Given the description of an element on the screen output the (x, y) to click on. 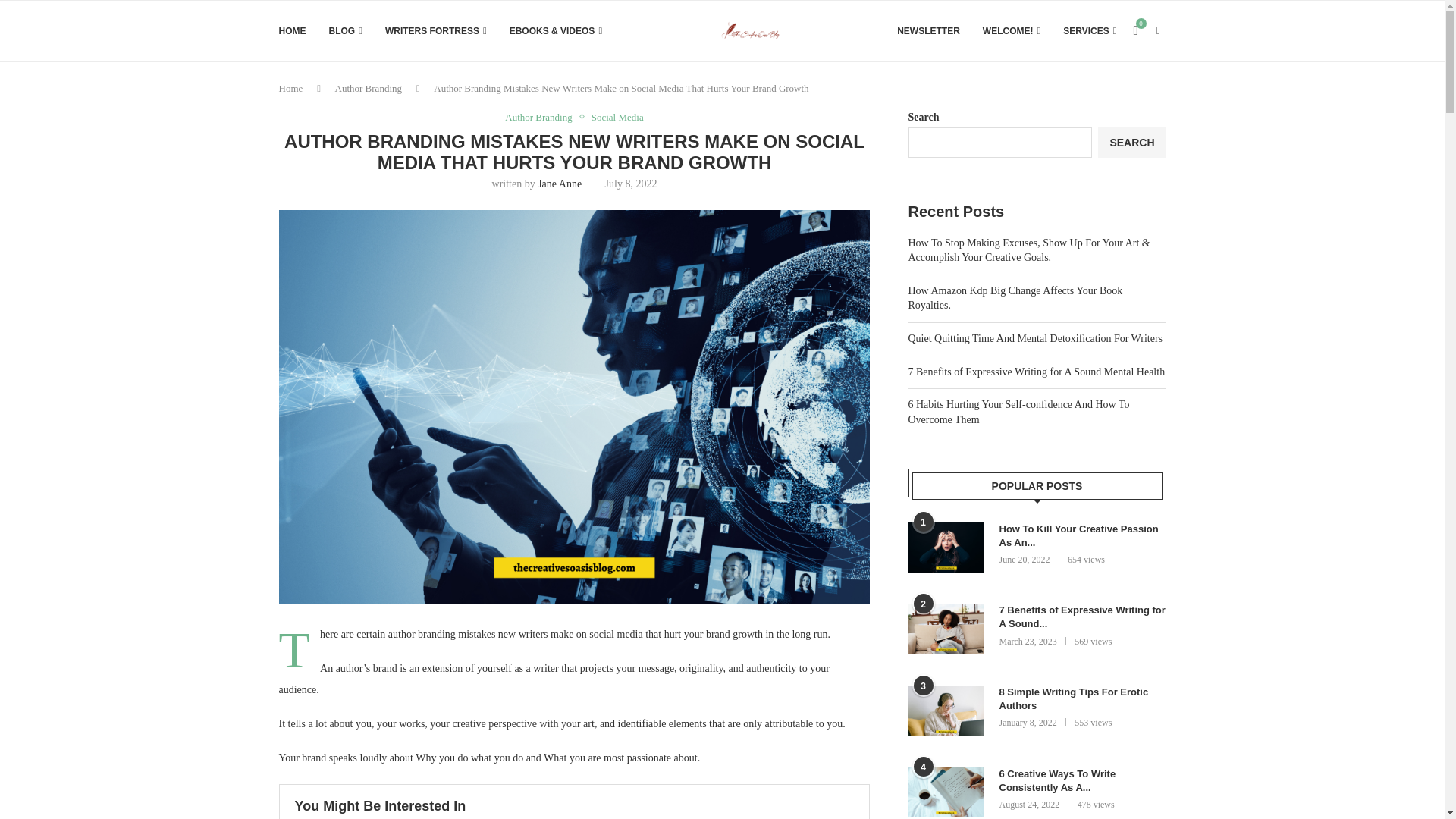
WELCOME! (1011, 30)
NEWSLETTER (927, 30)
WRITERS FORTRESS (435, 30)
